Given the description of an element on the screen output the (x, y) to click on. 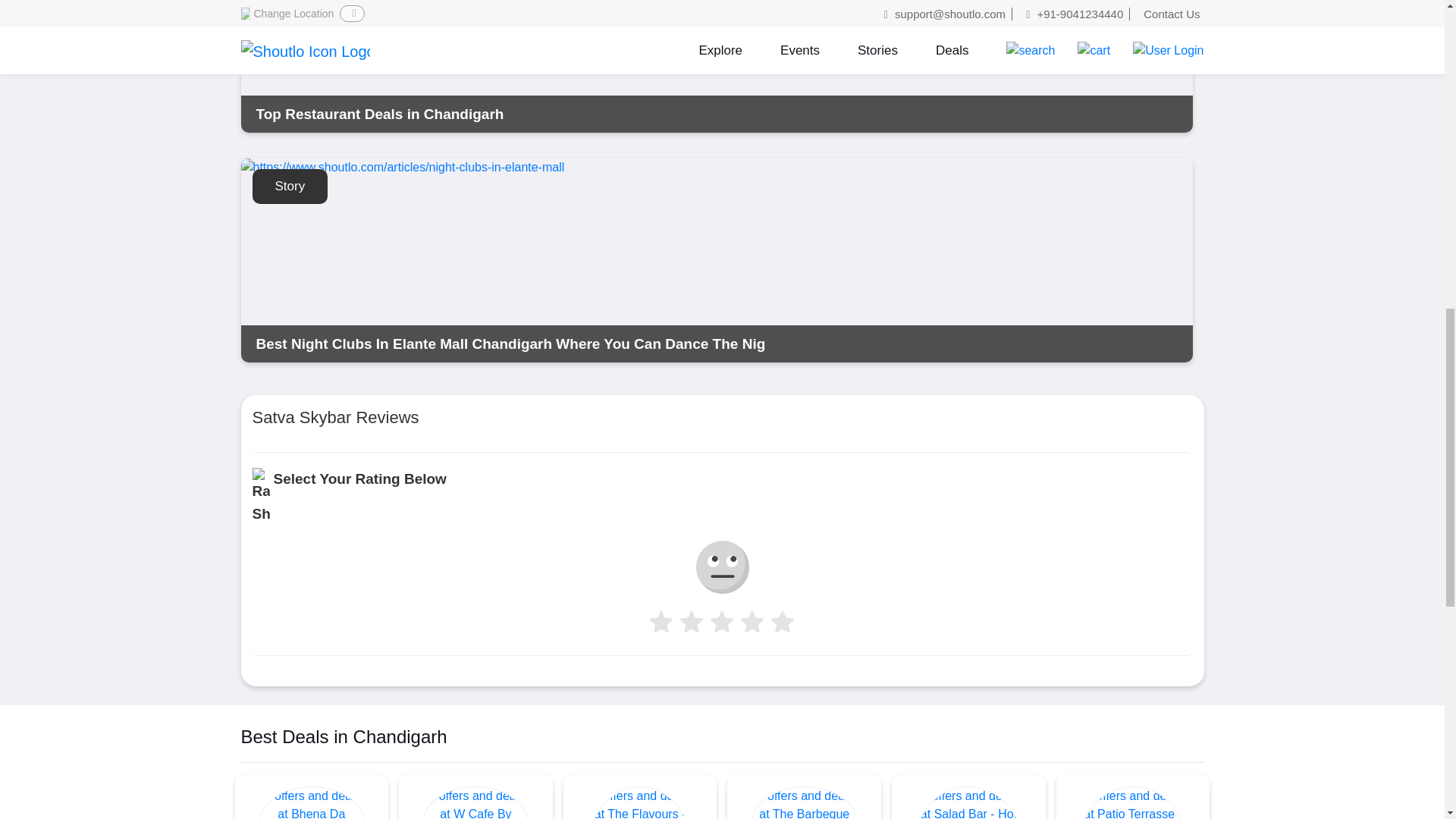
offers and deals at W Cafe By Wyndham Sector-65 in Mohali (475, 802)
offers and deals at Bhena Da Dhaba Phase-5 in Mohali (312, 802)
